Given the description of an element on the screen output the (x, y) to click on. 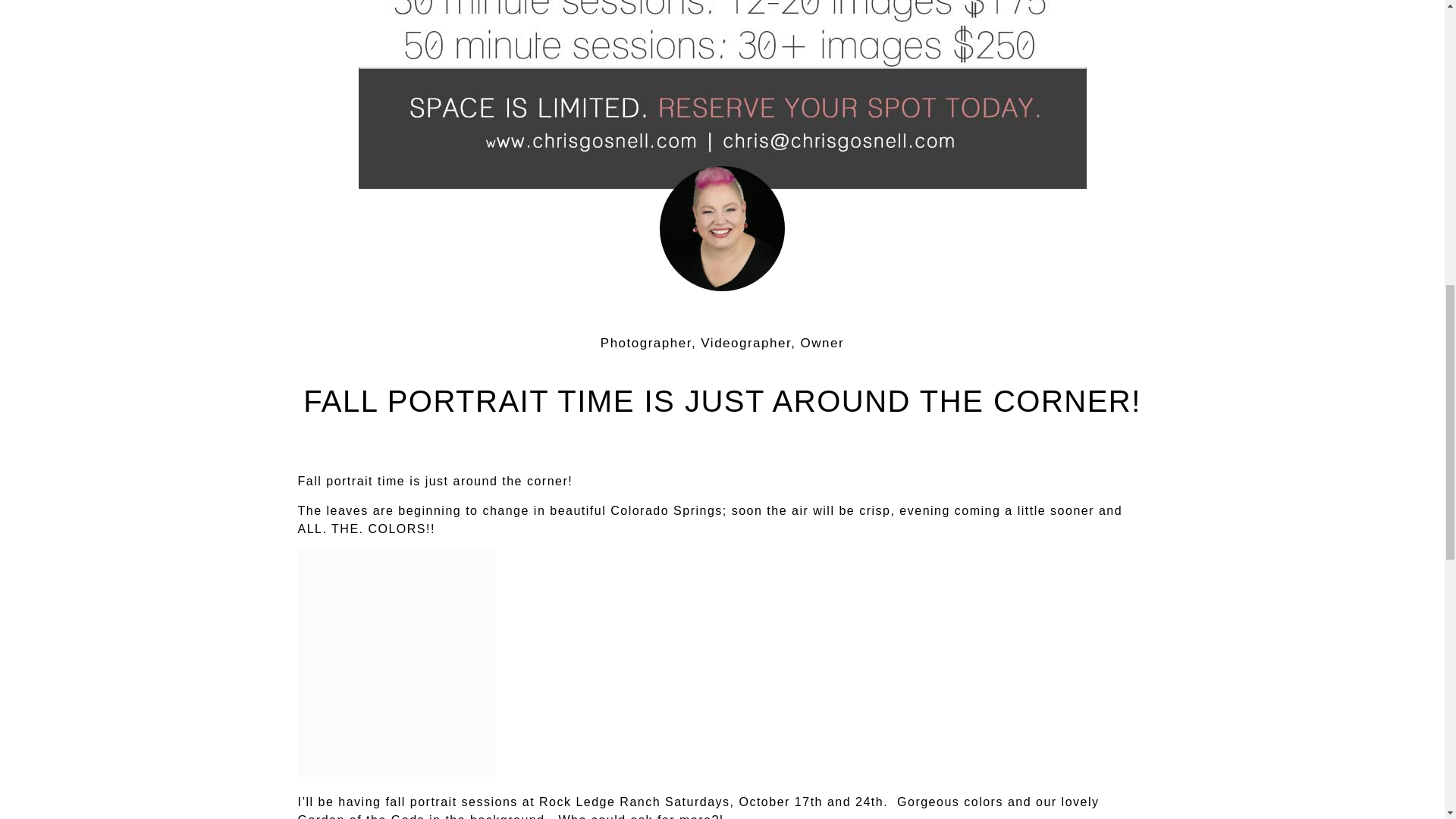
Chris Gosnell (341, 447)
September 22, 2015 (462, 447)
